Given the description of an element on the screen output the (x, y) to click on. 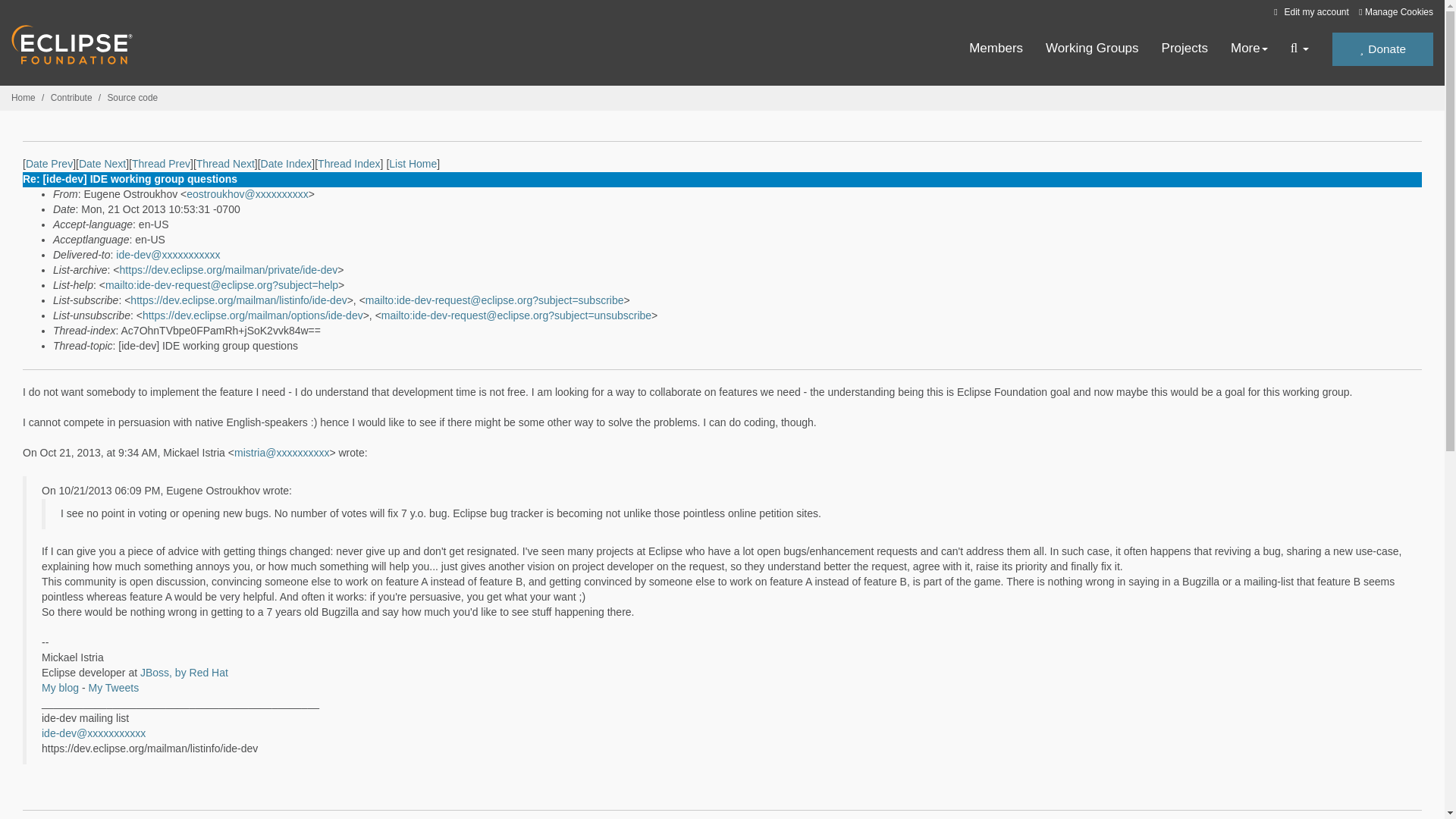
Donate (1382, 49)
More (1249, 48)
Projects (1184, 48)
Manage Cookies (1395, 12)
Working Groups (1091, 48)
Members (996, 48)
Edit my account (1309, 11)
